Given the description of an element on the screen output the (x, y) to click on. 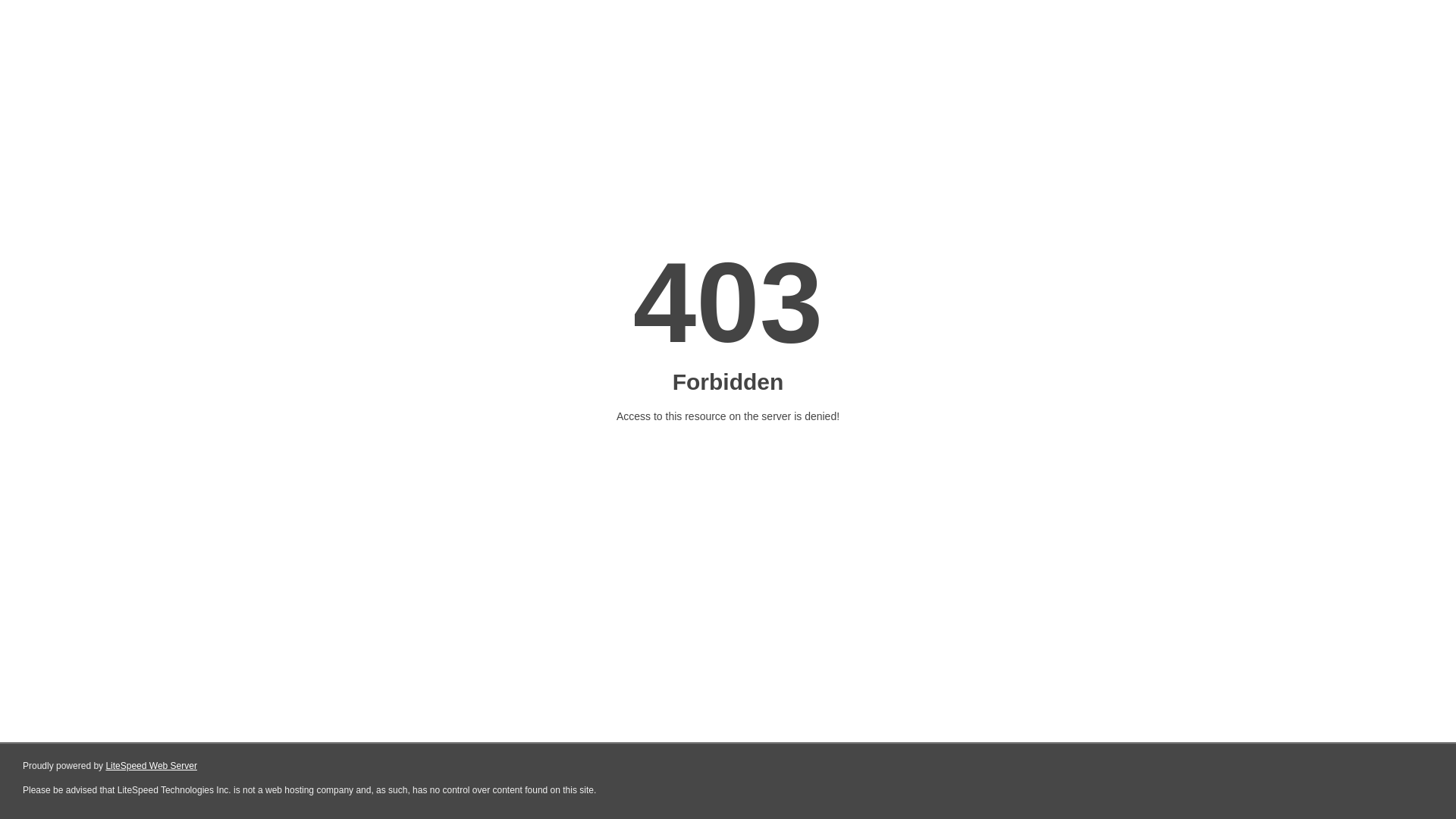
LiteSpeed Web Server Element type: text (151, 765)
